Given the description of an element on the screen output the (x, y) to click on. 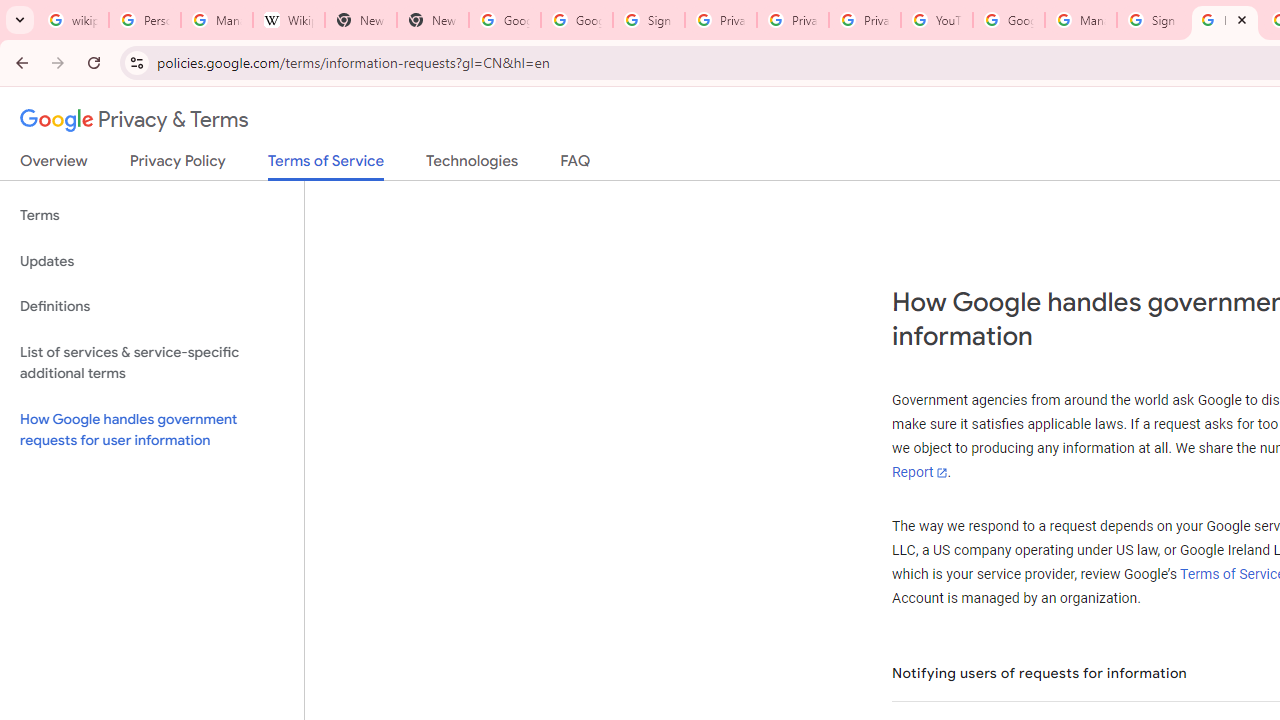
Manage your Location History - Google Search Help (216, 20)
Sign in - Google Accounts (1153, 20)
